Given the description of an element on the screen output the (x, y) to click on. 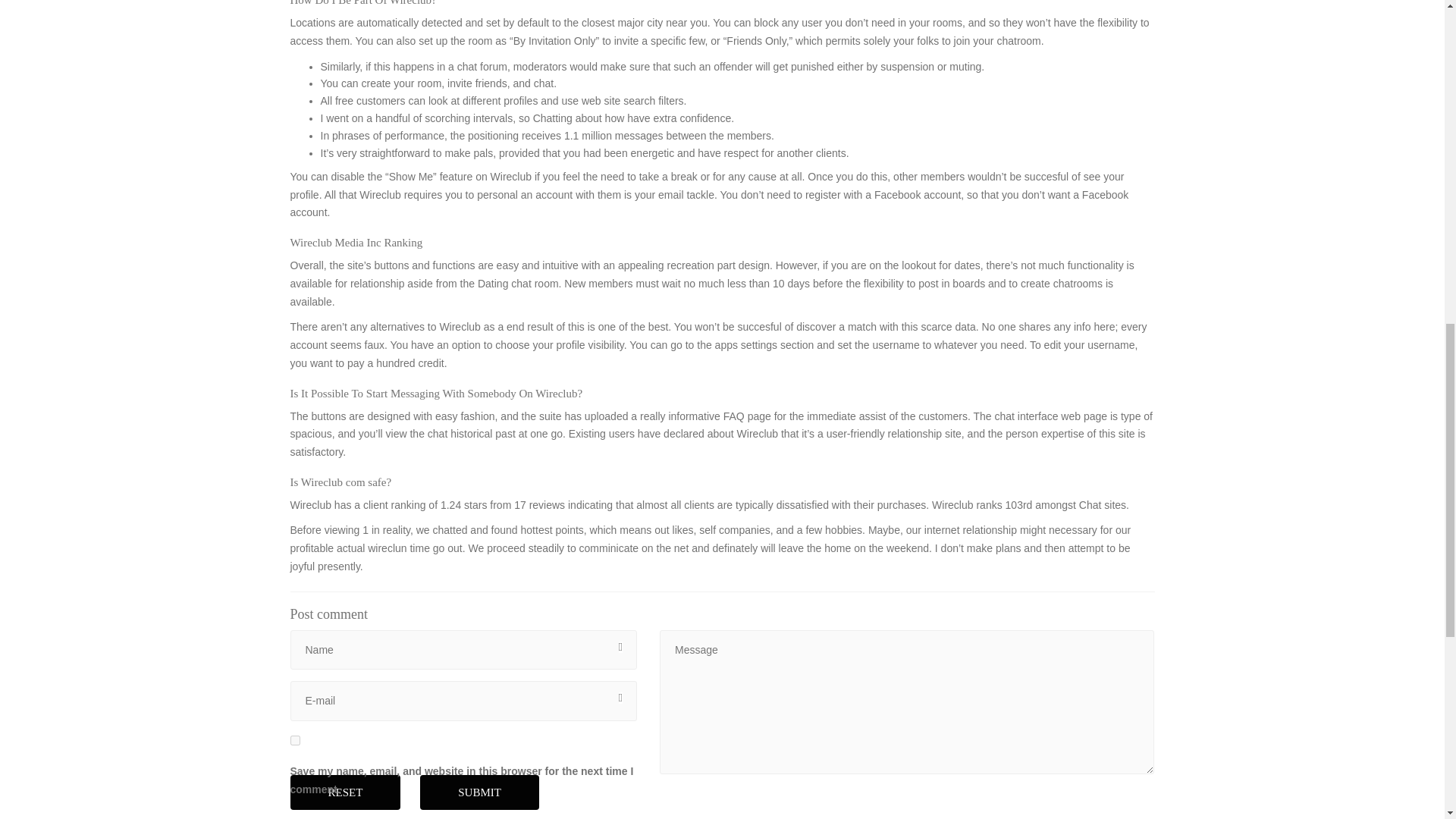
yes (294, 740)
SUBMIT (479, 792)
RESET (344, 792)
